Given the description of an element on the screen output the (x, y) to click on. 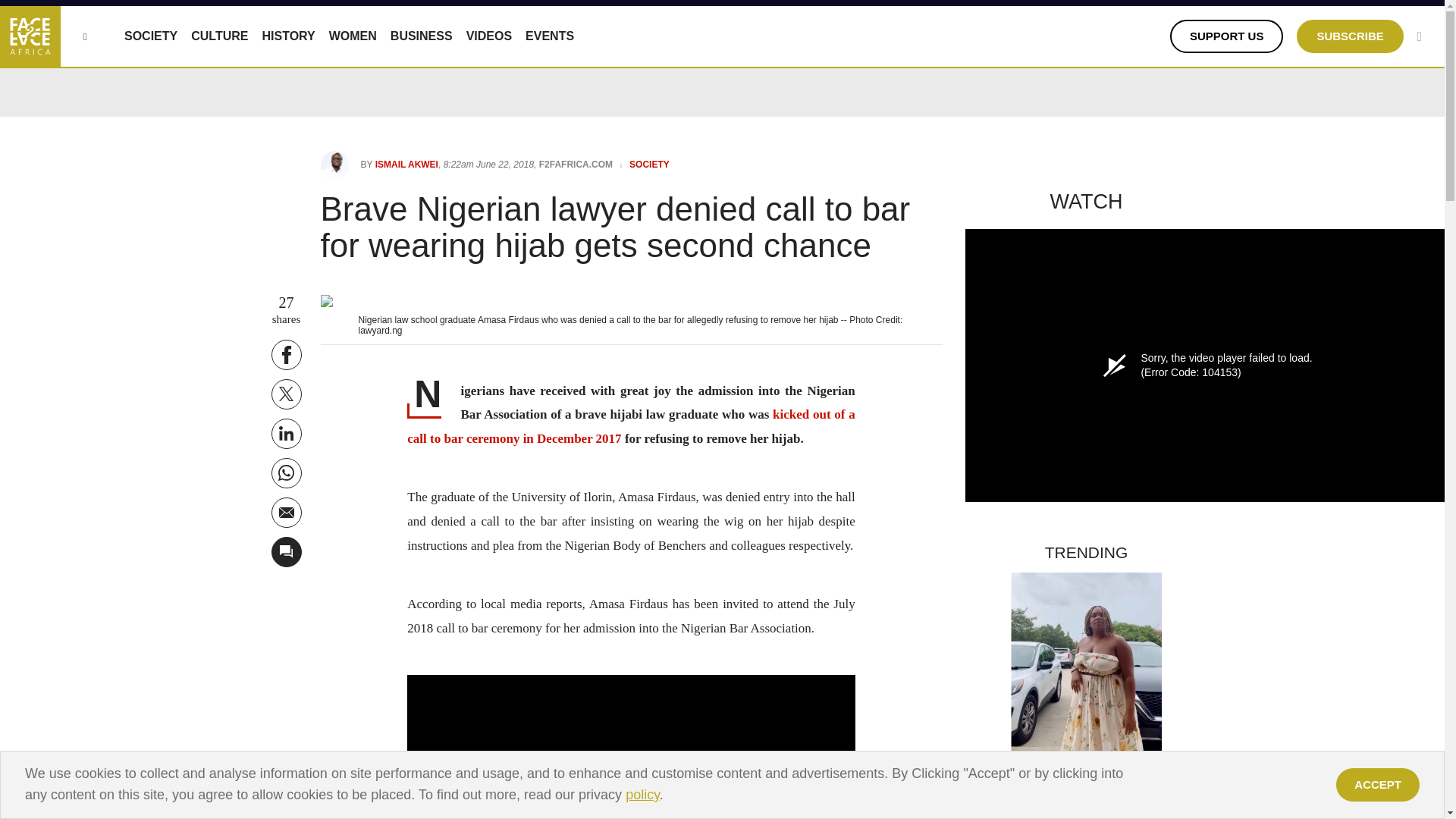
VIDEOS (488, 35)
CULTURE (218, 35)
SOCIETY (150, 35)
SUBSCRIBE (1350, 36)
BUSINESS (421, 35)
WOMEN (353, 35)
HISTORY (288, 35)
EVENTS (549, 35)
SUPPORT US (1227, 36)
